Given the description of an element on the screen output the (x, y) to click on. 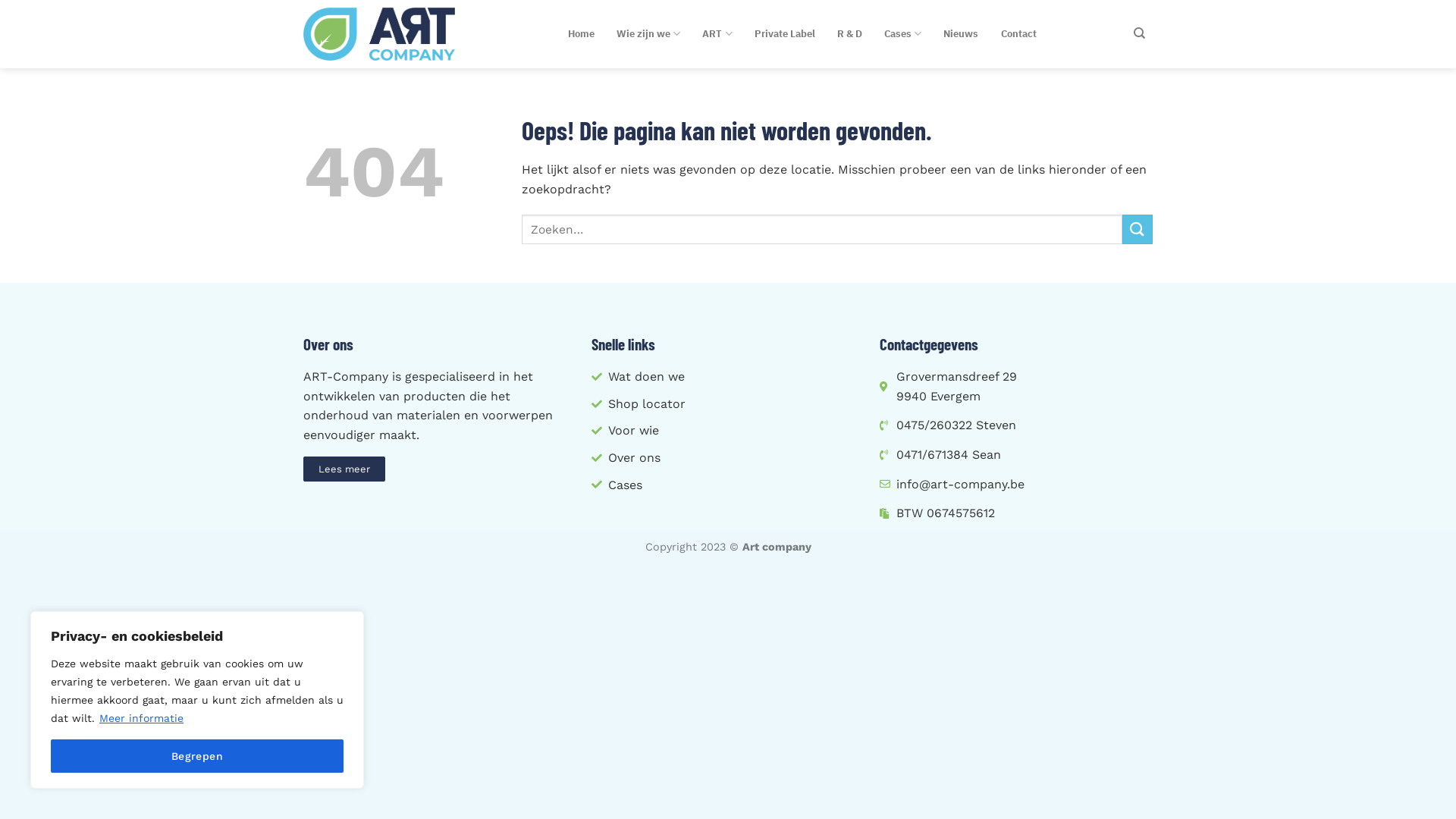
Voor wie Element type: text (727, 430)
Art Company - Art Company Element type: hover (379, 34)
Cases Element type: text (727, 485)
Home Element type: text (580, 33)
Private Label Element type: text (784, 33)
ART Element type: text (717, 33)
Over ons Element type: text (727, 457)
0471/671384 Sean Element type: text (1015, 454)
Wie zijn we Element type: text (647, 33)
Lees meer Element type: text (344, 468)
Begrepen Element type: text (196, 755)
0475/260322 Steven Element type: text (1015, 425)
Contact Element type: text (1018, 33)
Shop locator Element type: text (727, 404)
Meer informatie Element type: text (141, 717)
Nieuws Element type: text (960, 33)
info@art-company.be Element type: text (1015, 484)
Cases Element type: text (902, 33)
Wat doen we Element type: text (727, 376)
R & D Element type: text (849, 33)
